Given the description of an element on the screen output the (x, y) to click on. 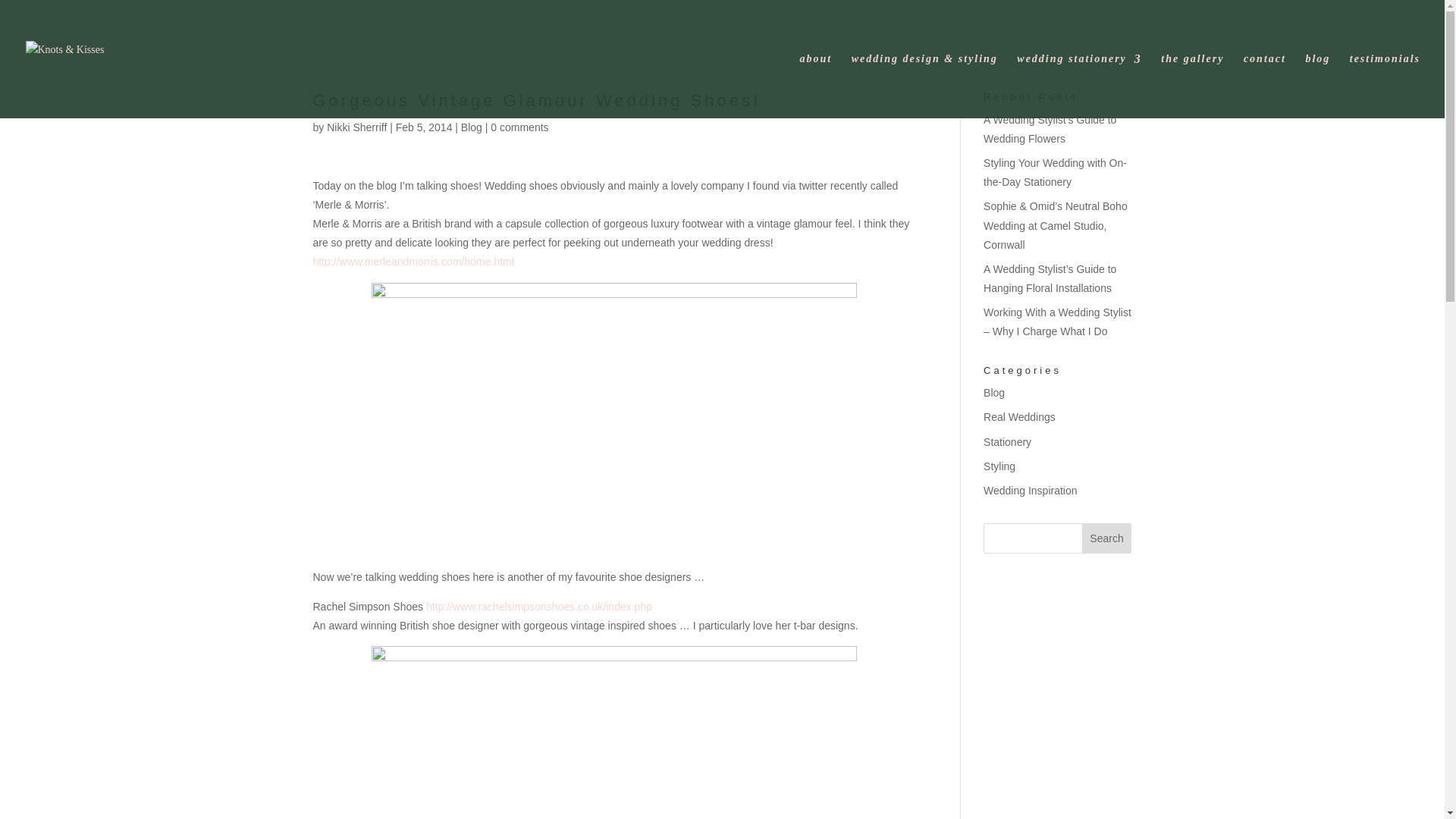
Search (1106, 538)
Nikki Sherriff (356, 127)
Styling (999, 466)
testimonials (1385, 85)
Styling Your Wedding with On-the-Day Stationery (1055, 172)
Search (1106, 538)
Real Weddings (1019, 417)
Blog (471, 127)
Wedding Inspiration (1030, 490)
Posts by Nikki Sherriff (356, 127)
Stationery (1007, 441)
the gallery (1192, 85)
0 comments (519, 127)
Blog (994, 392)
wedding stationery (1078, 85)
